Given the description of an element on the screen output the (x, y) to click on. 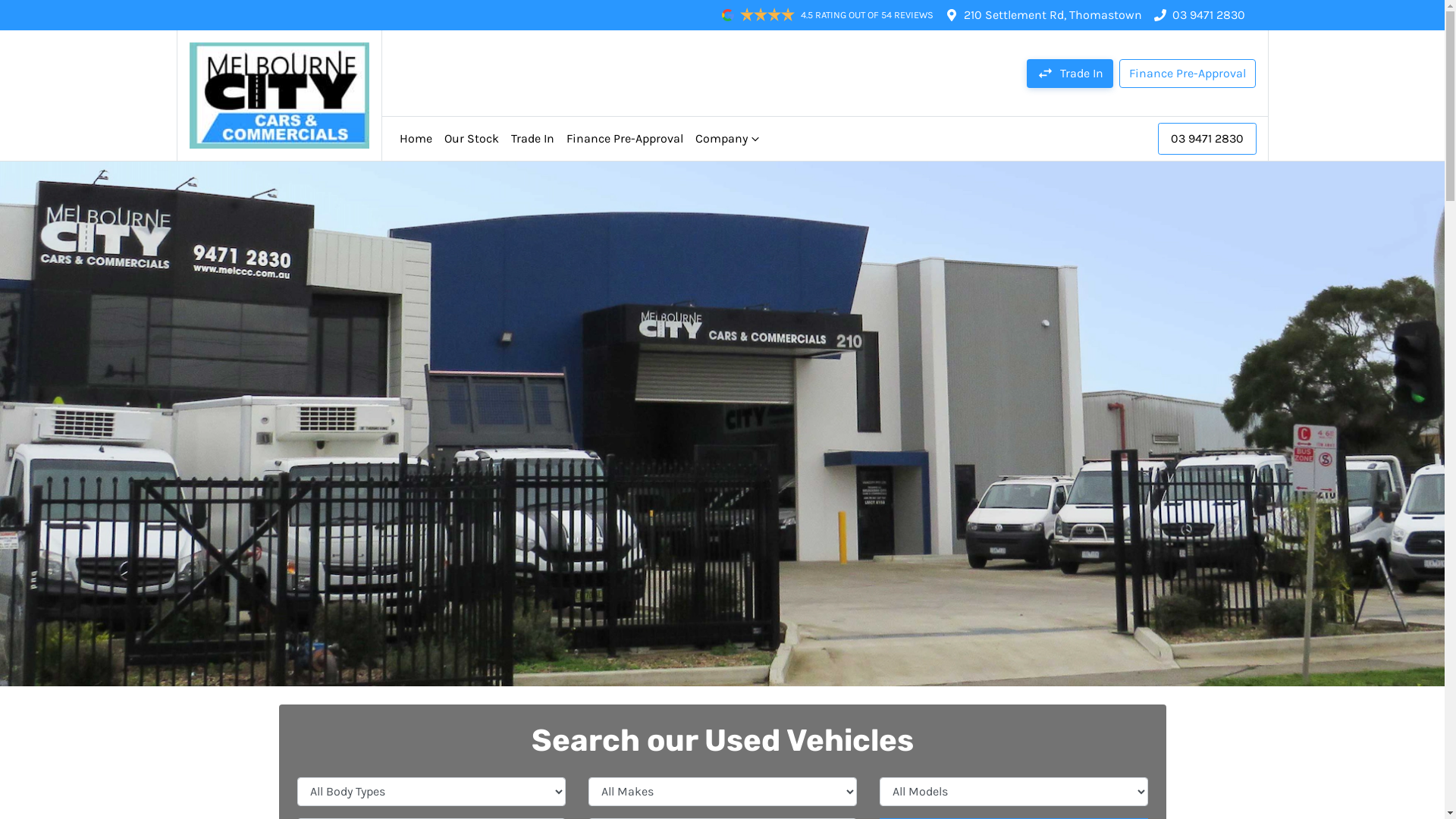
Trade In Element type: text (532, 138)
Home Element type: text (415, 138)
Our Stock Element type: text (471, 138)
Finance Pre-Approval Element type: text (624, 138)
210 Settlement Rd, Thomastown Element type: text (1052, 14)
Trade In Element type: text (1069, 73)
Finance Pre-Approval Element type: text (1187, 73)
03 9471 2830 Element type: text (1206, 138)
Company Element type: text (725, 138)
03 9471 2830 Element type: text (1208, 14)
